Given the description of an element on the screen output the (x, y) to click on. 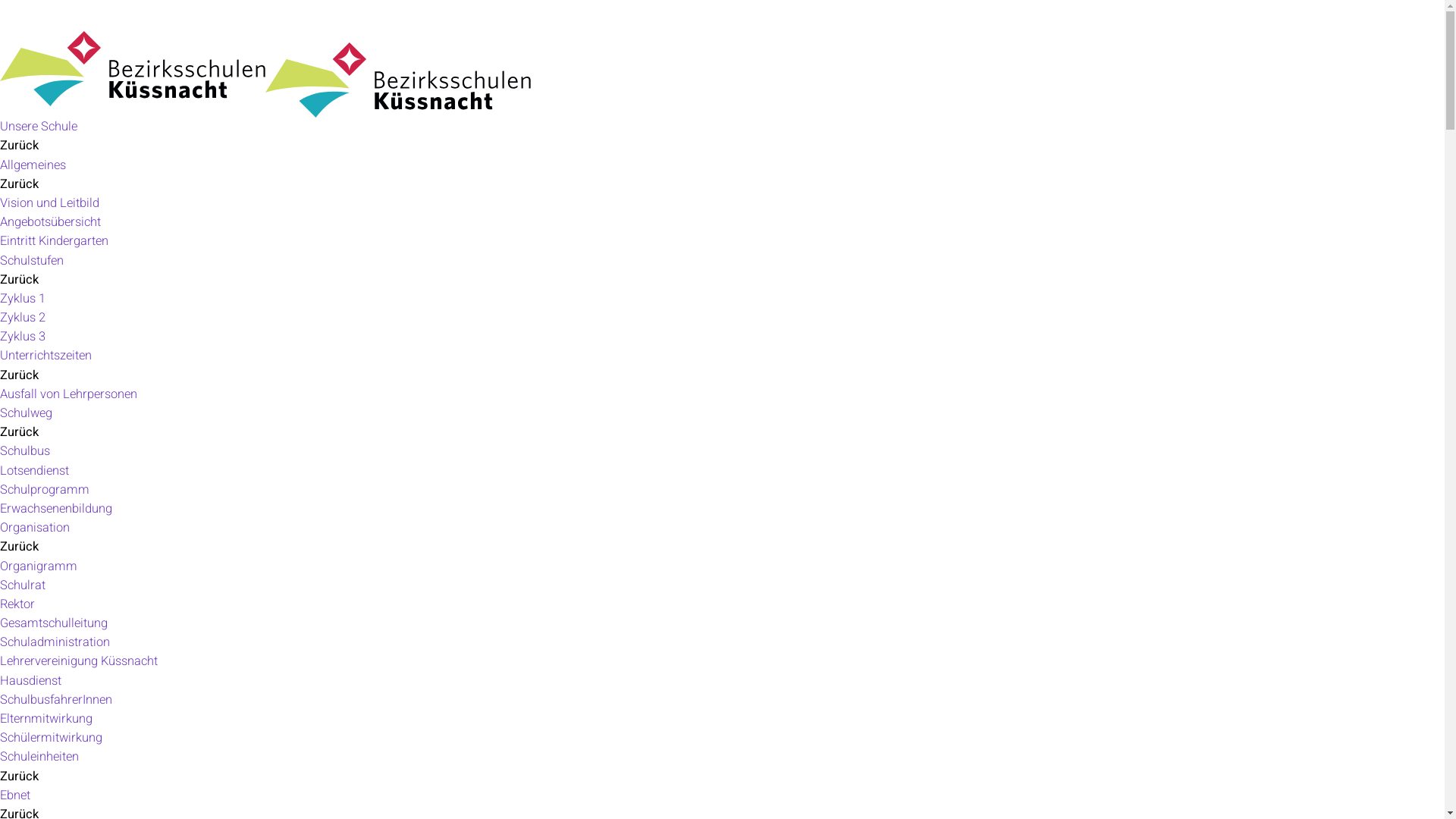
Zyklus 2 Element type: text (22, 317)
Lotsendienst Element type: text (34, 470)
Erwachsenenbildung Element type: text (56, 508)
Ausfall von Lehrpersonen Element type: text (68, 394)
Schuladministration Element type: text (54, 642)
Organigramm Element type: text (38, 565)
Gesamtschulleitung Element type: text (53, 623)
Rektor Element type: text (17, 604)
Hausdienst Element type: text (30, 680)
Schulprogramm Element type: text (44, 489)
Eintritt Kindergarten Element type: text (54, 241)
Schulbus Element type: text (25, 451)
Unsere Schule Element type: text (38, 126)
Elternmitwirkung Element type: text (46, 718)
Zyklus 3 Element type: text (22, 336)
SchulbusfahrerInnen Element type: text (56, 699)
Schulrat Element type: text (22, 585)
Zyklus 1 Element type: text (22, 298)
Allgemeines Element type: text (32, 165)
Organisation Element type: text (34, 527)
Unterrichtszeiten Element type: text (45, 355)
Schuleinheiten Element type: text (39, 756)
Vision und Leitbild Element type: text (49, 203)
Schulstufen Element type: text (31, 260)
Schulweg Element type: text (26, 413)
Ebnet Element type: text (15, 795)
